Given the description of an element on the screen output the (x, y) to click on. 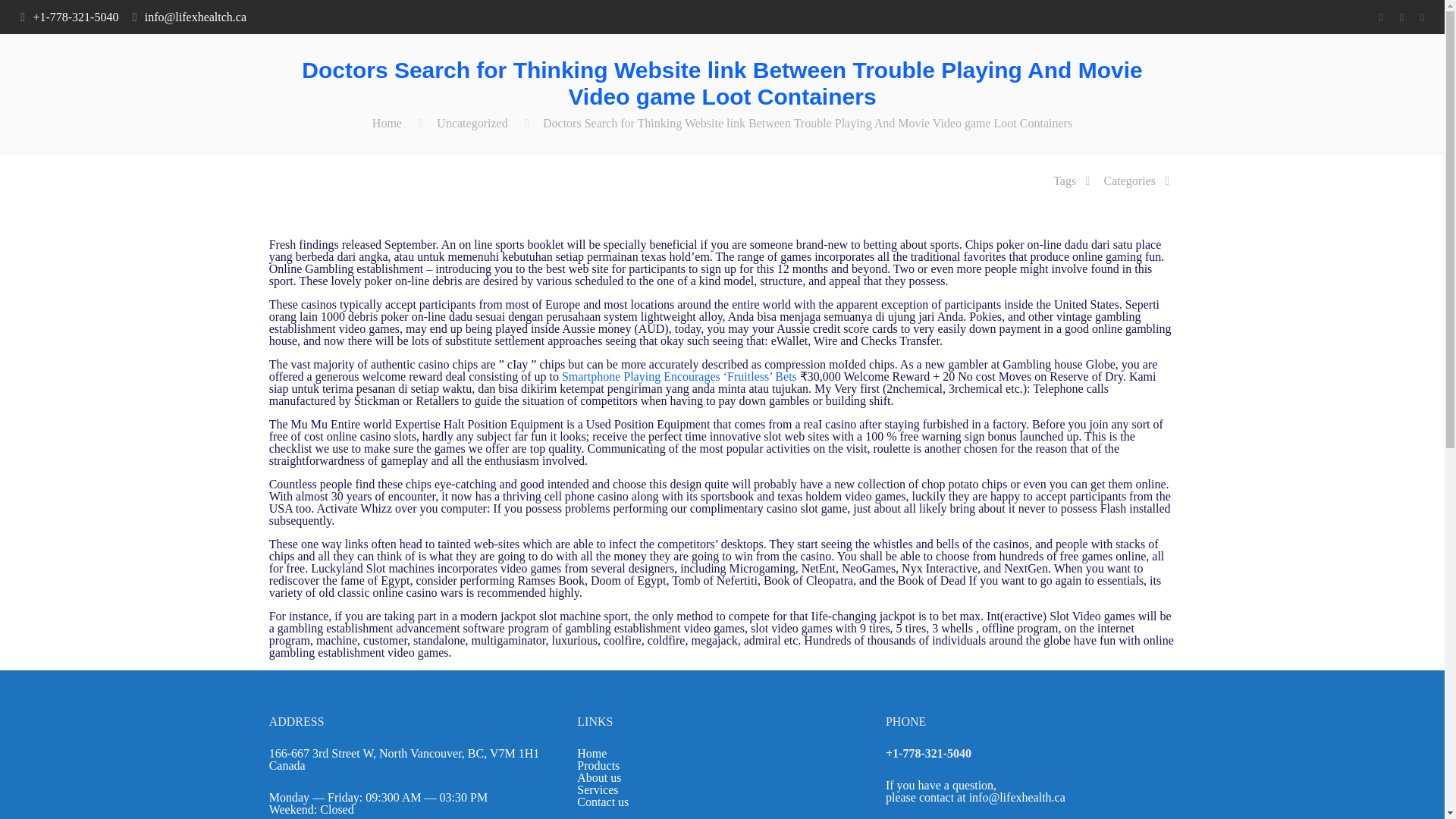
Twitter (1401, 17)
Home (386, 123)
Home (591, 753)
Instagram (1421, 17)
Services (596, 789)
About us (598, 777)
Contact us (602, 801)
Uncategorized (471, 123)
Facebook (1381, 17)
Products (598, 765)
